Given the description of an element on the screen output the (x, y) to click on. 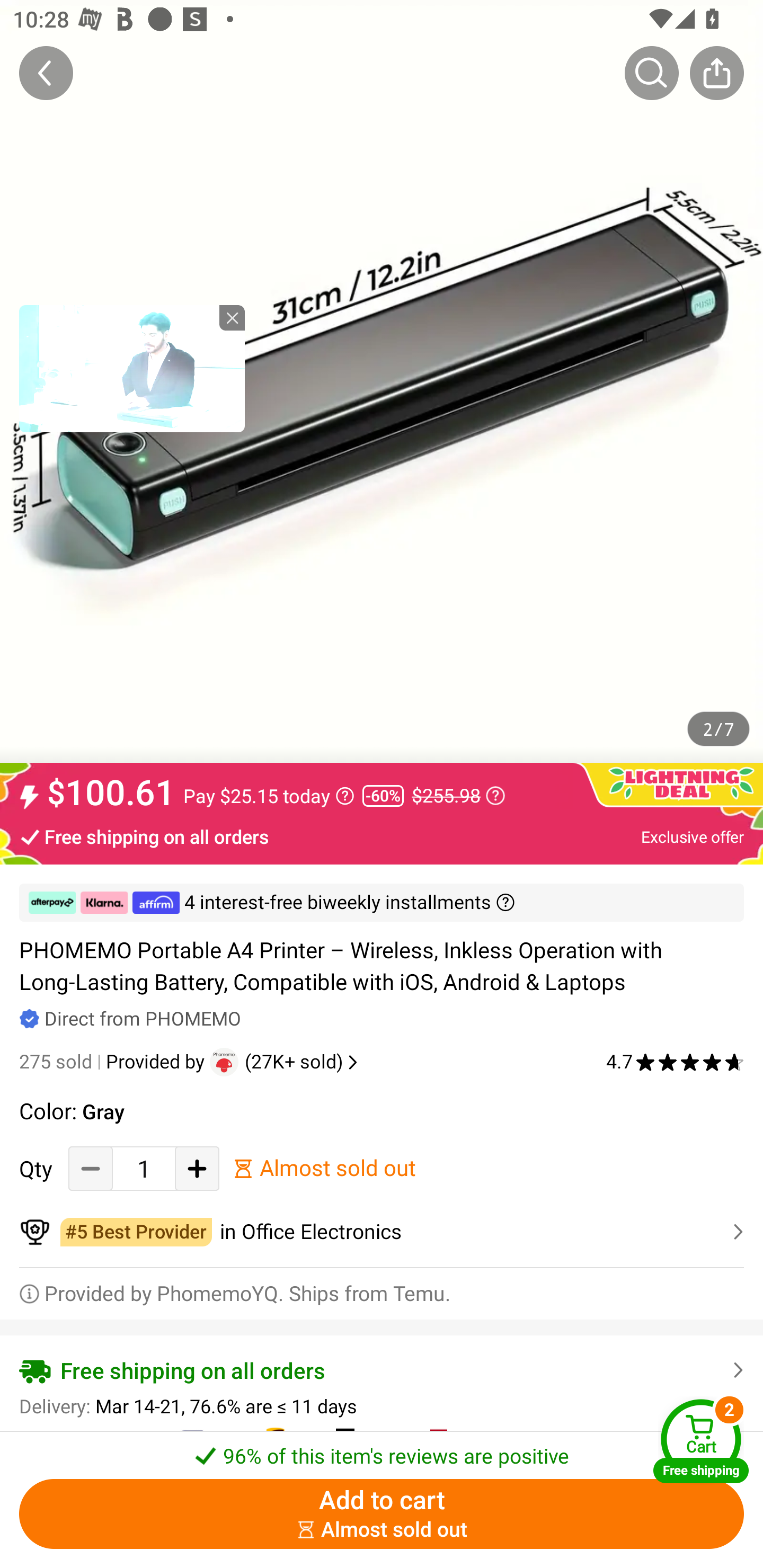
Back (46, 72)
Share (716, 72)
tronplayer_view (131, 368)
Pay $25.15 today   (268, 795)
Free shipping on all orders Exclusive offer (381, 836)
￼ ￼ ￼ 4 interest-free biweekly installments ￼ (381, 902)
4.7 (674, 1061)
Decrease Quantity Button (90, 1168)
1 (143, 1168)
Add Quantity button (196, 1168)
￼￼in Office Electronics (381, 1231)
Cart Free shipping Cart (701, 1440)
￼￼96% of this item's reviews are positive (381, 1450)
Add to cart ￼￼Almost sold out (381, 1513)
